Given the description of an element on the screen output the (x, y) to click on. 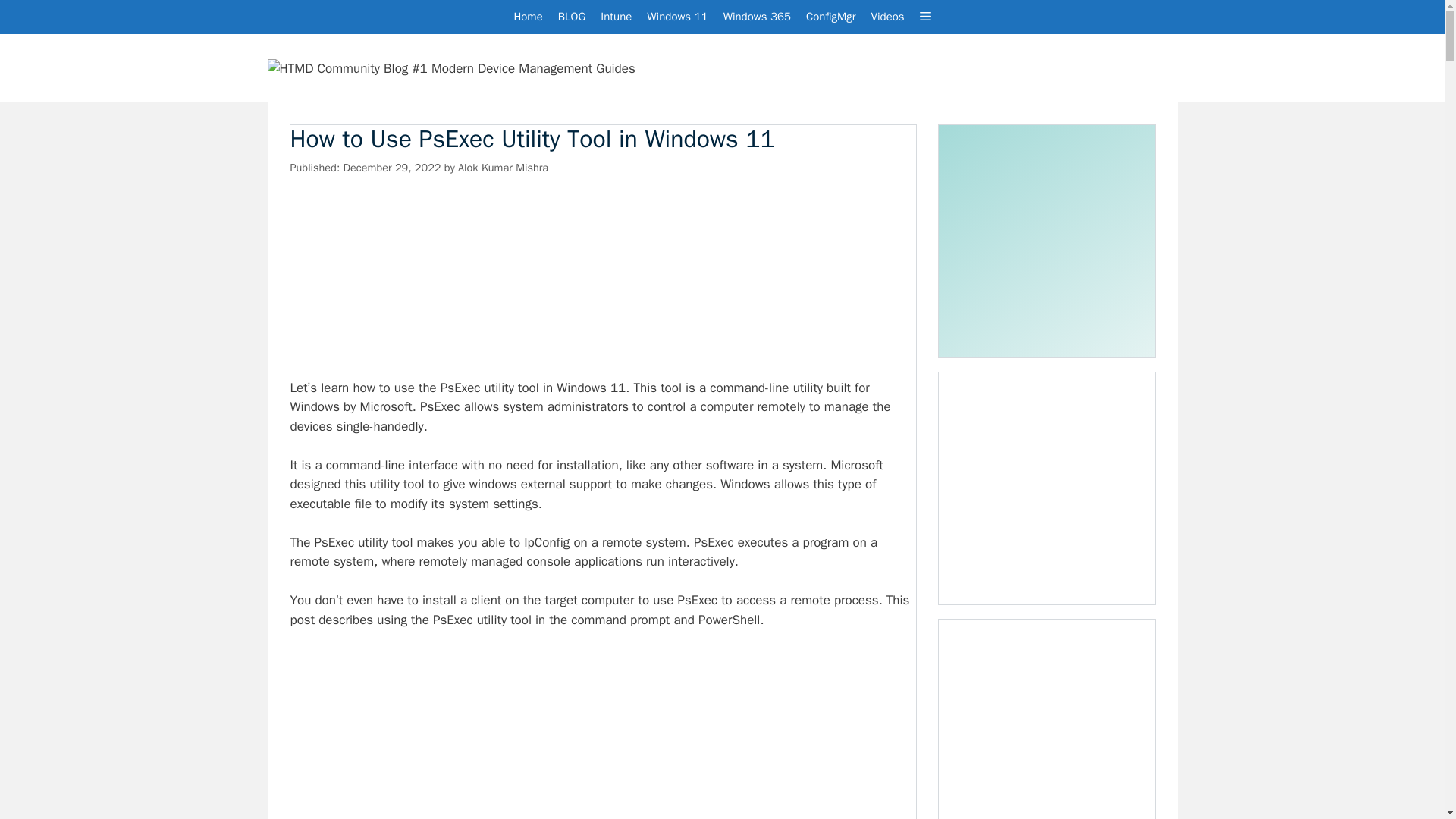
Alok Kumar Mishra (503, 167)
ConfigMgr (830, 17)
Microsoft Endpoint Manager Intune (615, 17)
Windows 11 (676, 17)
Home (527, 17)
View all posts by Alok Kumar Mishra (503, 167)
Videos (887, 17)
BLOG (572, 17)
Windows 365 (756, 17)
Microsoft Endpoint Manager Configuration Manager (830, 17)
Intune (615, 17)
BLOG (572, 17)
